Given the description of an element on the screen output the (x, y) to click on. 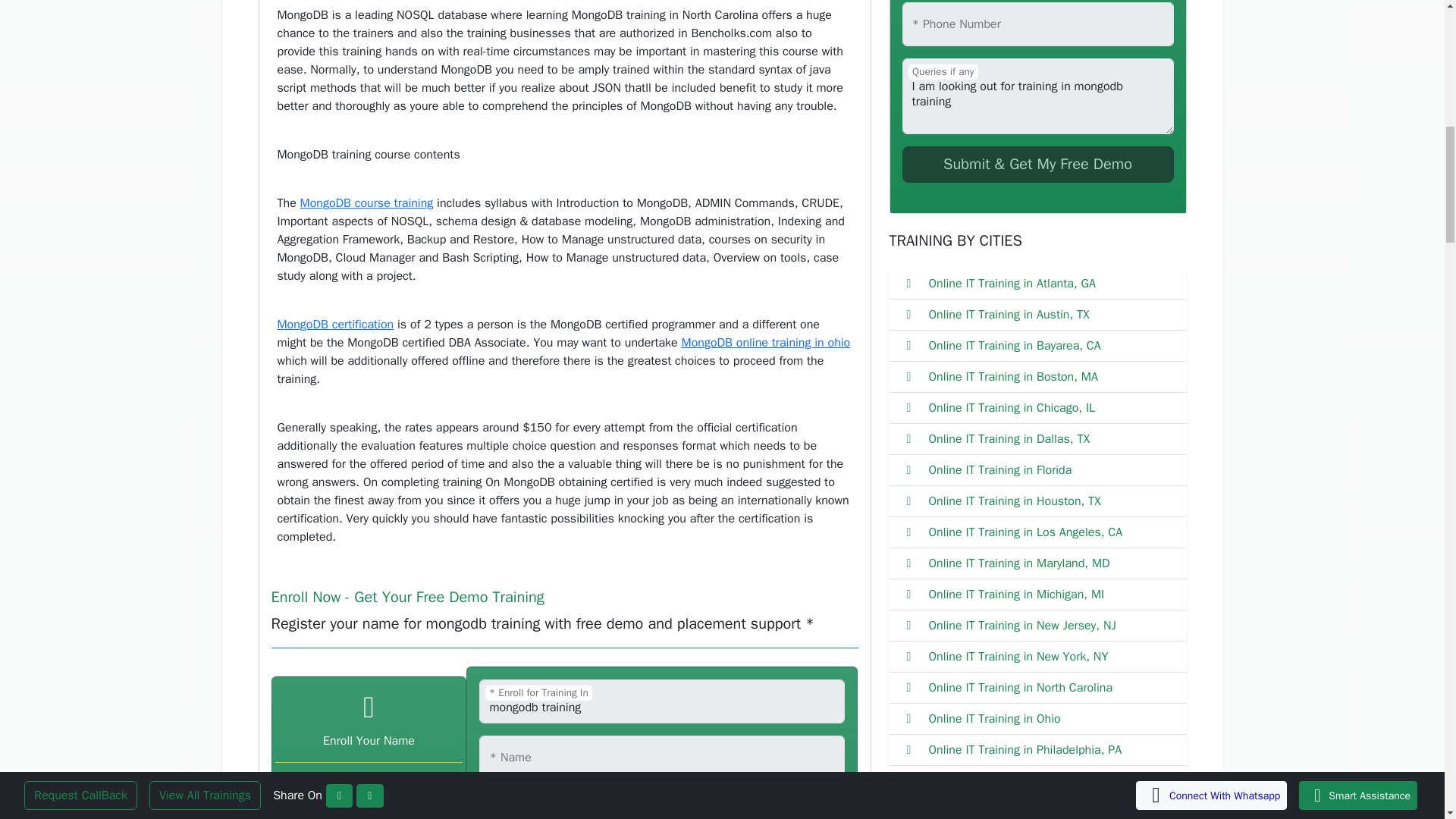
MongoDB online training in ohio (765, 342)
MongoDB course training (366, 202)
MongoDB certification (336, 324)
MongoDB online training in ohio (765, 342)
MongoDB course training (366, 202)
mongodb training (661, 701)
Get mongodb training Free Demo Training (1037, 164)
MongoDB certification (336, 324)
